Given the description of an element on the screen output the (x, y) to click on. 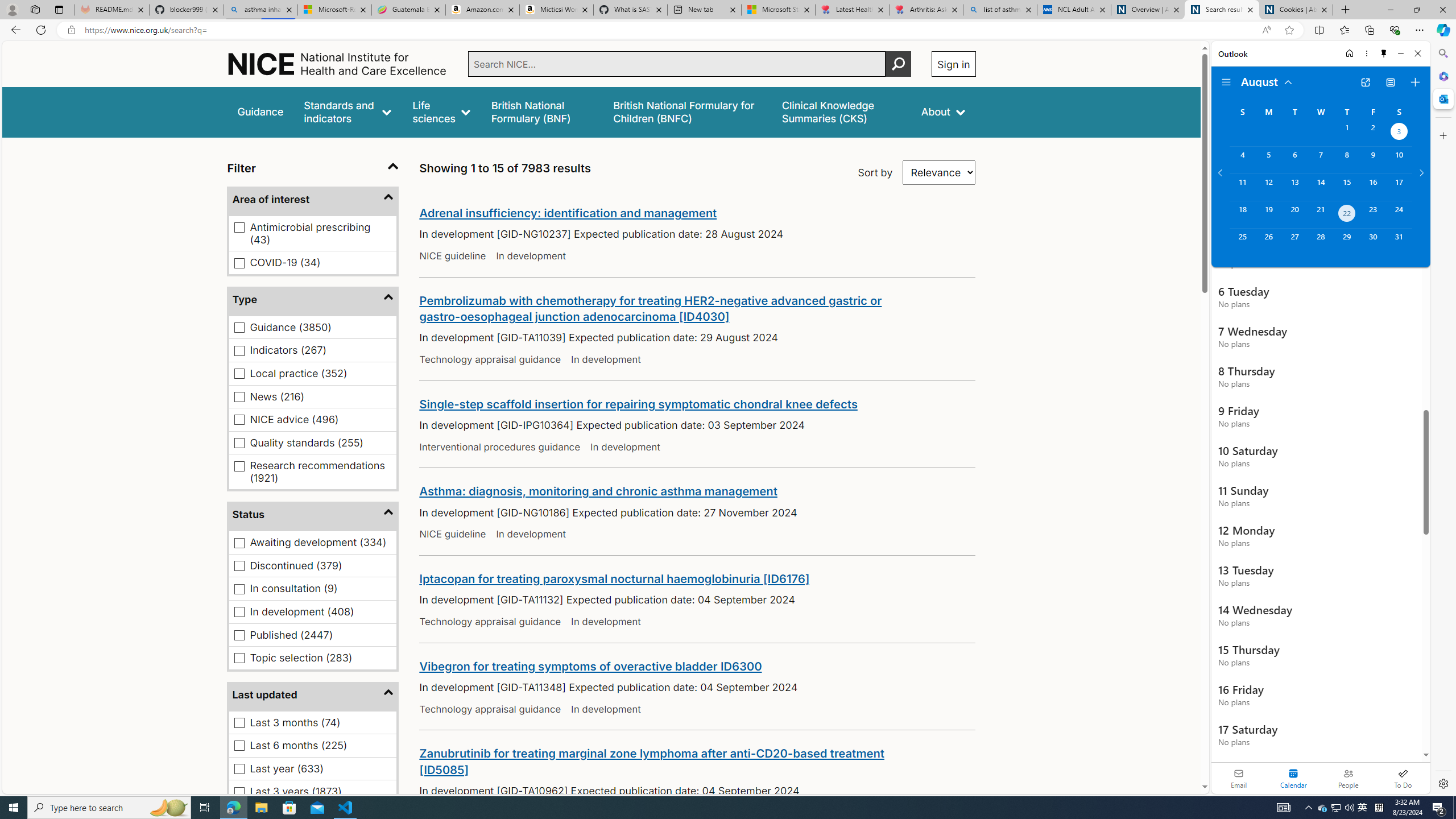
Tuesday, August 13, 2024.  (1294, 186)
Last updated (312, 694)
Discontinued (379) (239, 566)
Adrenal insufficiency: identification and management (568, 212)
Saturday, August 17, 2024.  (1399, 186)
Side bar (1443, 418)
Selected calendar module. Date today is 22 (1293, 777)
Tuesday, August 6, 2024.  (1294, 159)
